Given the description of an element on the screen output the (x, y) to click on. 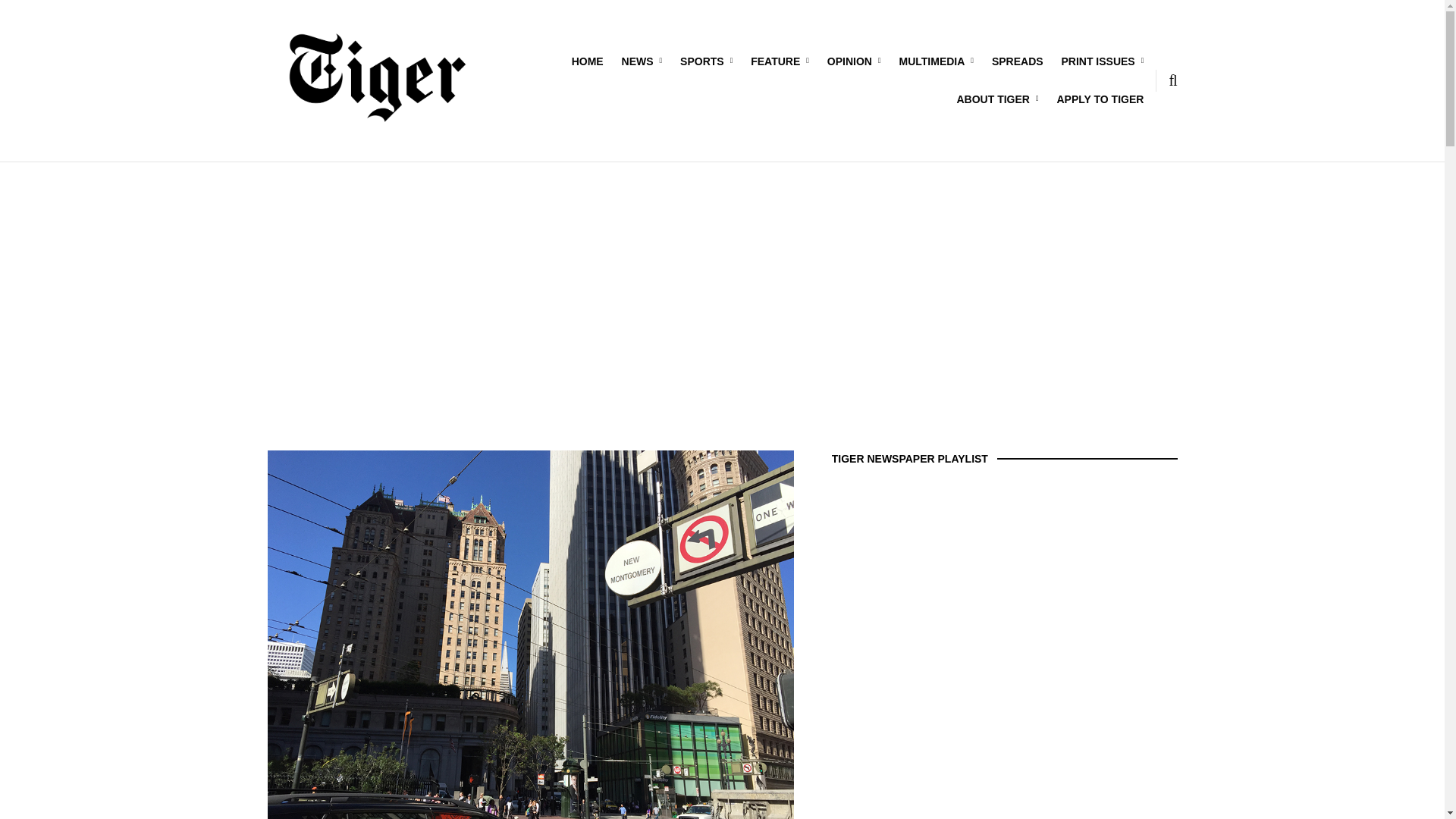
SPORTS (705, 61)
NEWS (641, 61)
